Given the description of an element on the screen output the (x, y) to click on. 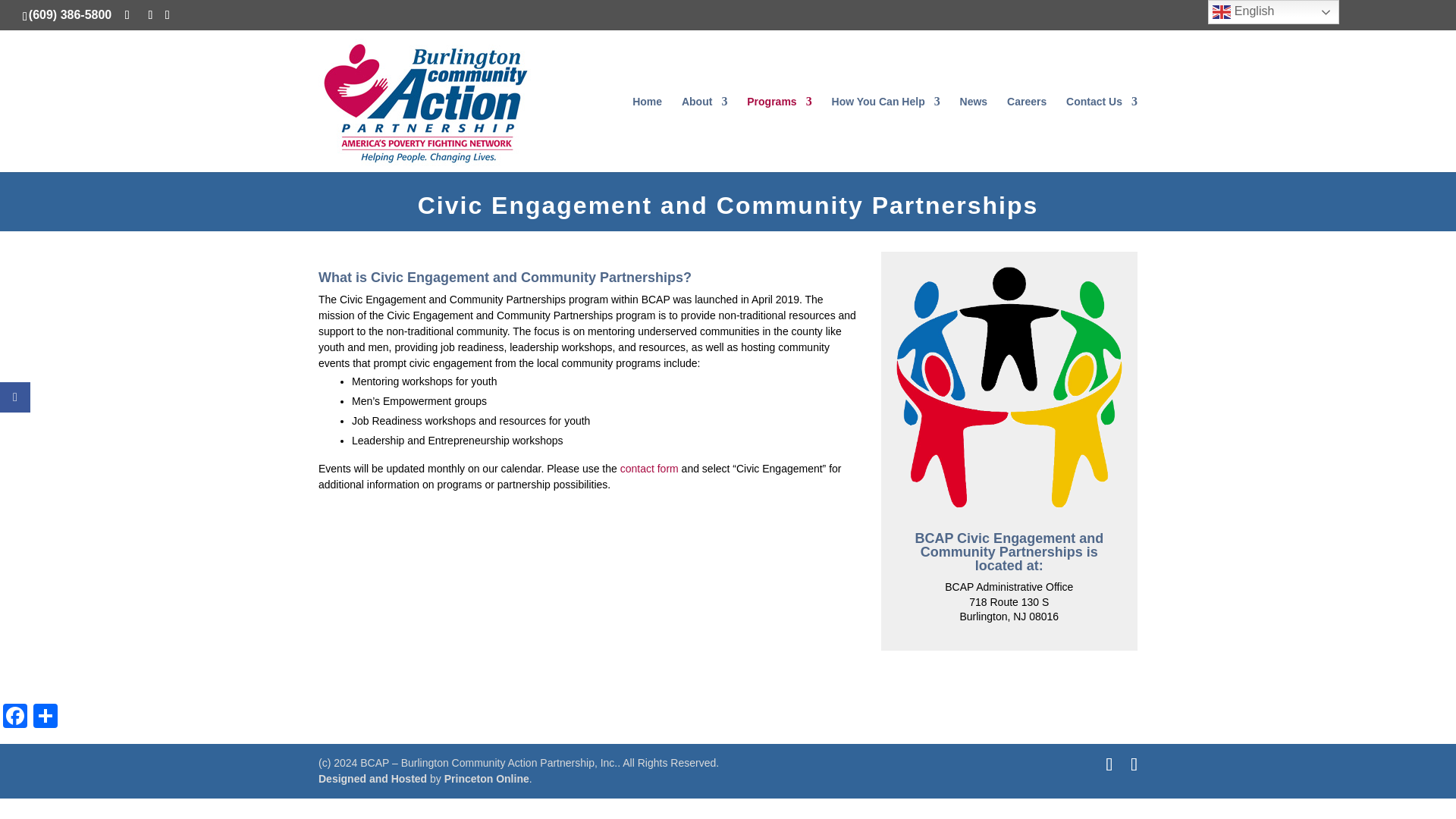
How You Can Help (885, 133)
Facebook (15, 717)
Contact Us (1101, 133)
